Given the description of an element on the screen output the (x, y) to click on. 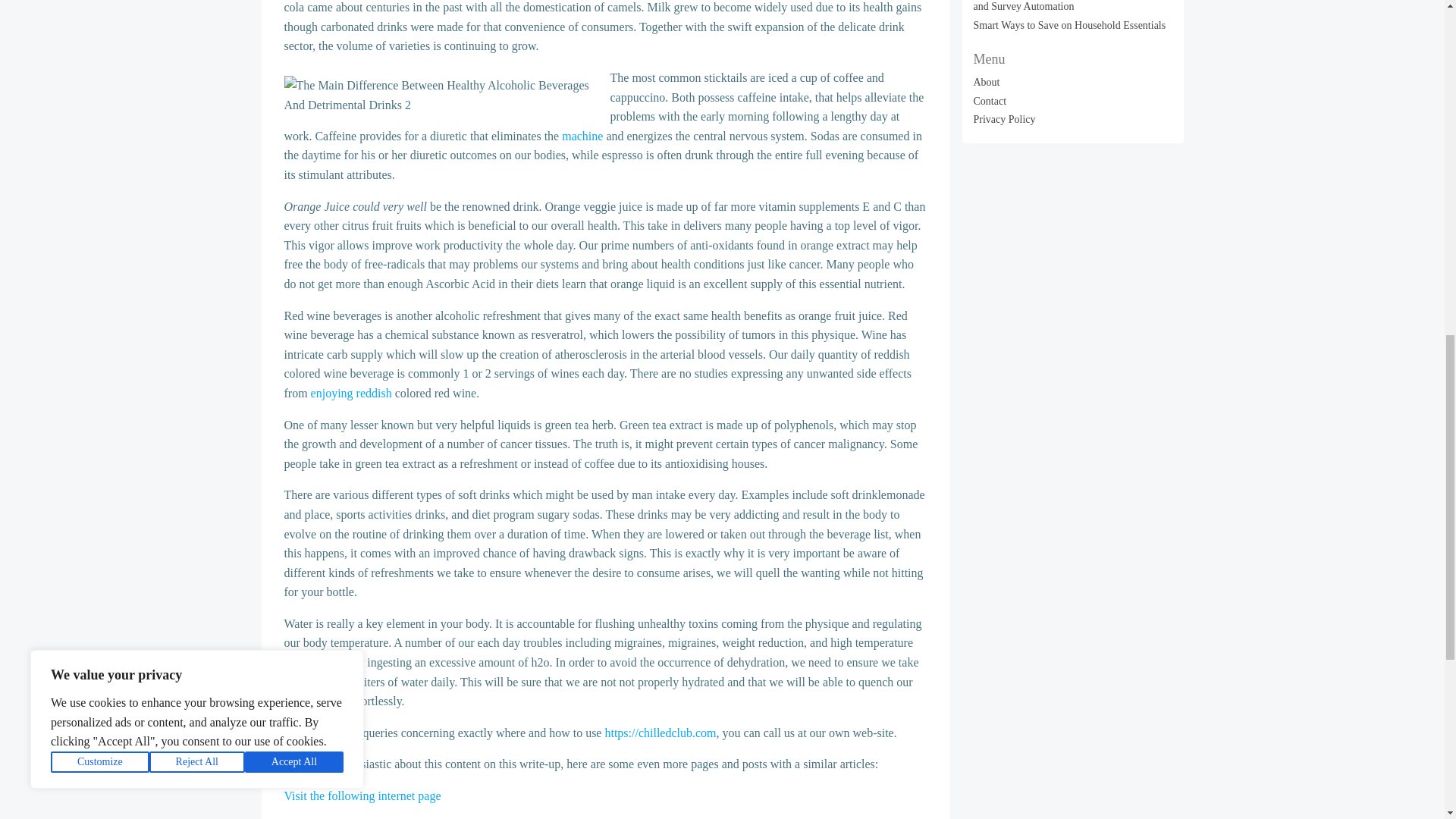
enjoying reddish (351, 392)
Visit the following internet page (362, 795)
machine (582, 135)
